Given the description of an element on the screen output the (x, y) to click on. 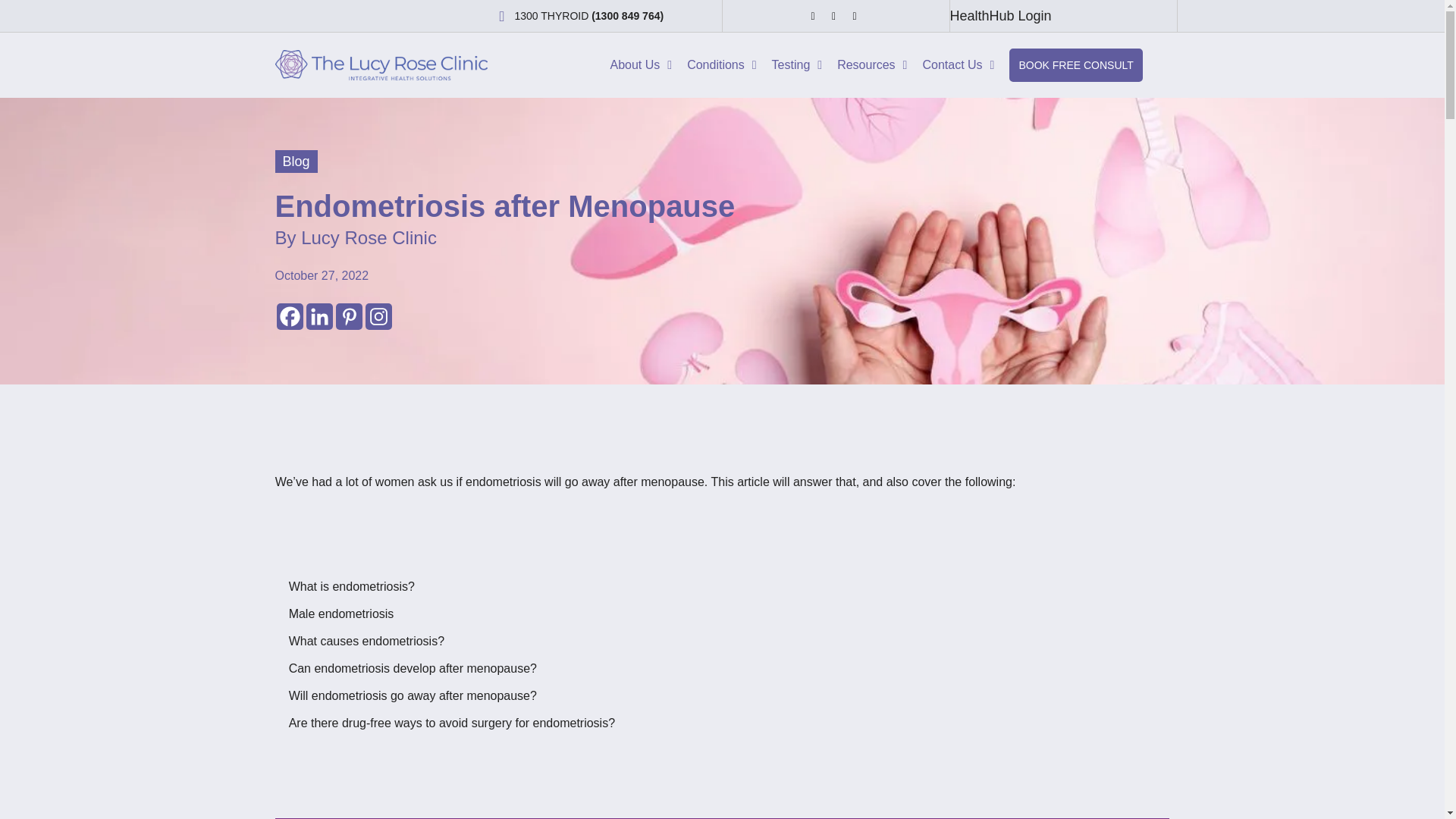
HealthHub Login (1000, 15)
Resources (871, 64)
Testing (796, 64)
Instagram (378, 316)
Linkedin (319, 316)
About Us (640, 64)
Conditions (720, 64)
Pinterest (347, 316)
Facebook (289, 316)
